Given the description of an element on the screen output the (x, y) to click on. 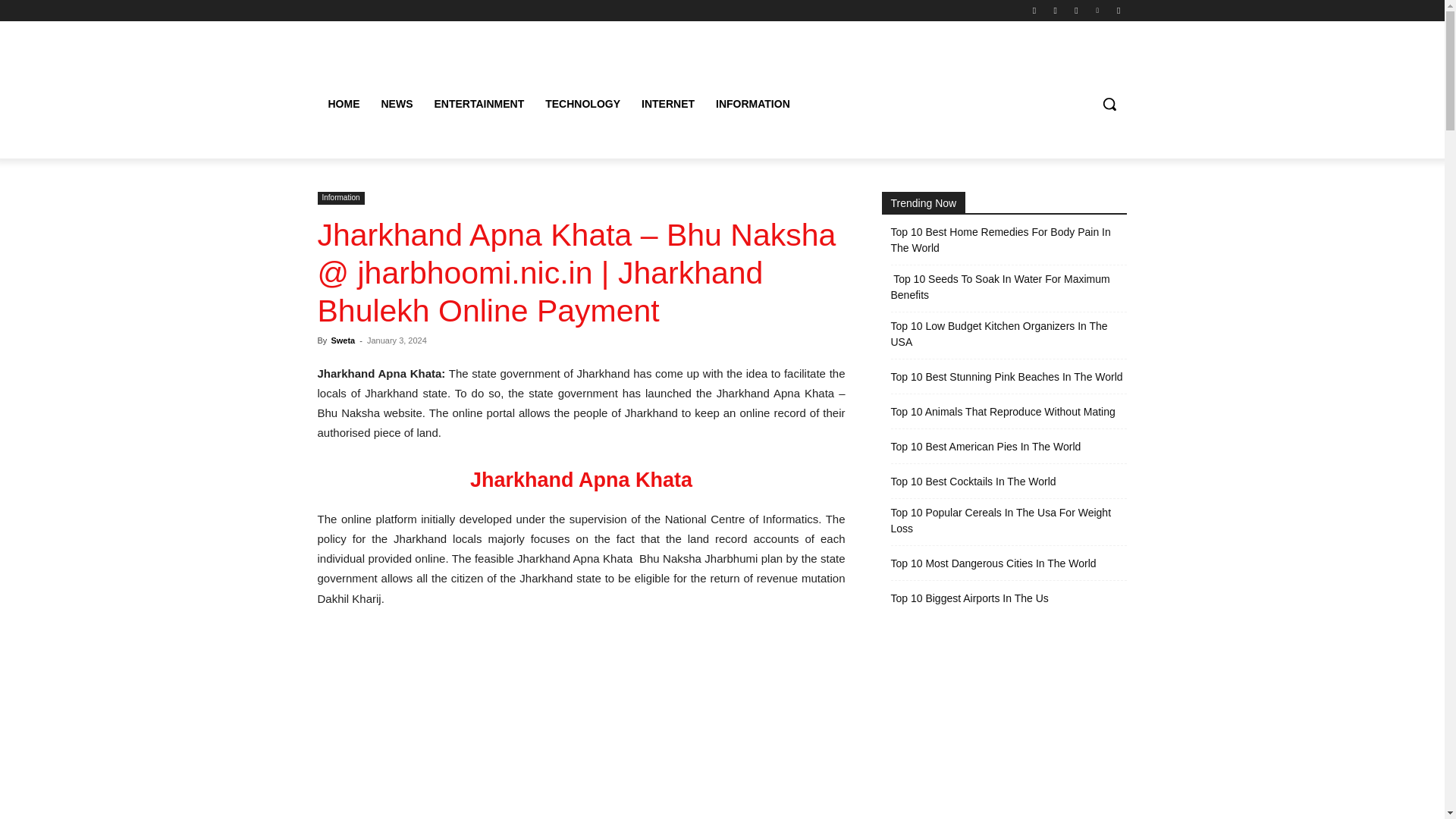
Twitter (1075, 9)
HOME (343, 103)
Facebook (1034, 9)
Information (340, 197)
Instagram (1055, 9)
INFORMATION (752, 103)
Youtube (1117, 9)
TECHNOLOGY (582, 103)
INTERNET (667, 103)
ENTERTAINMENT (478, 103)
